Given the description of an element on the screen output the (x, y) to click on. 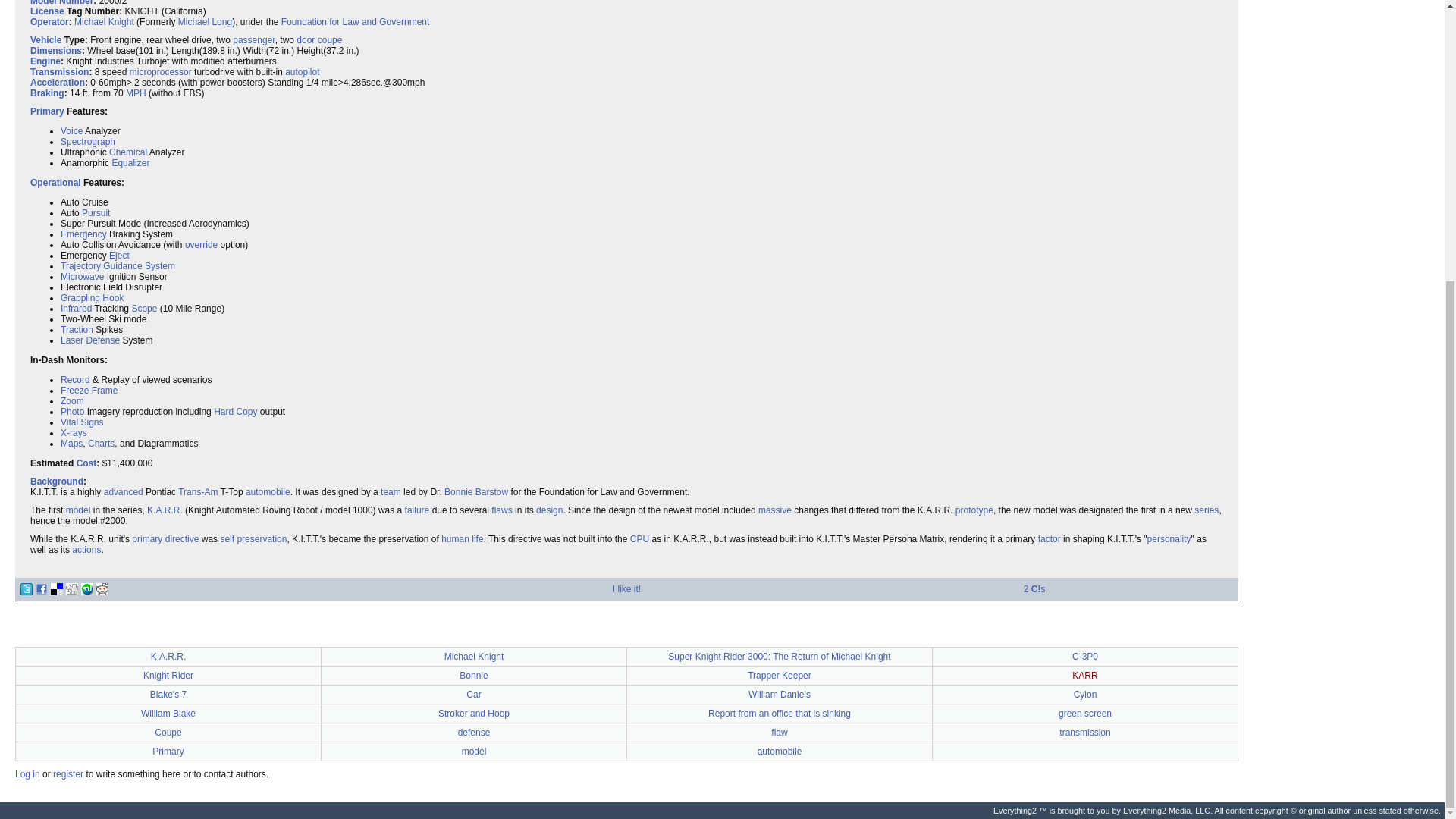
passenger (253, 40)
coupe (329, 40)
License (47, 10)
Operator (49, 21)
Foundation for Law and Government (355, 21)
Model Number (61, 2)
door (305, 40)
Michael Long (204, 21)
Dimensions (55, 50)
Vehicle (45, 40)
